Given the description of an element on the screen output the (x, y) to click on. 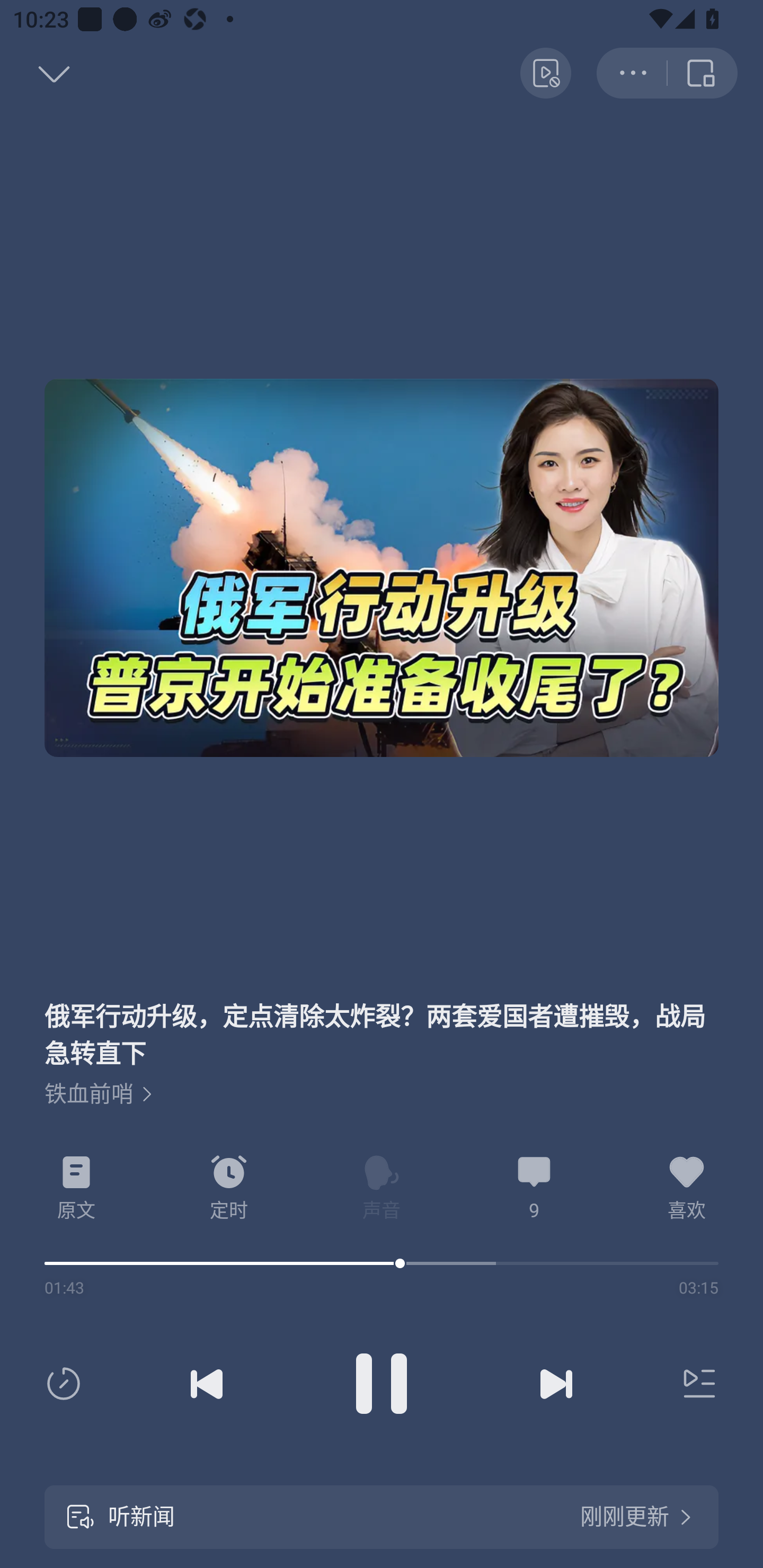
返回 (35, 72)
更多 (631, 72)
返回 (702, 72)
铁血前哨 (98, 1094)
原文 (76, 1188)
定时，按钮 定时 (228, 1188)
声音，音色按钮 声音 (381, 1188)
9条评论，按钮 9 (533, 1188)
喜欢，按钮 喜欢 (686, 1188)
暂停 (381, 1383)
倍速，按钮 (67, 1383)
列表，按钮 (695, 1383)
听新闻 刚刚更新 (381, 1516)
